Given the description of an element on the screen output the (x, y) to click on. 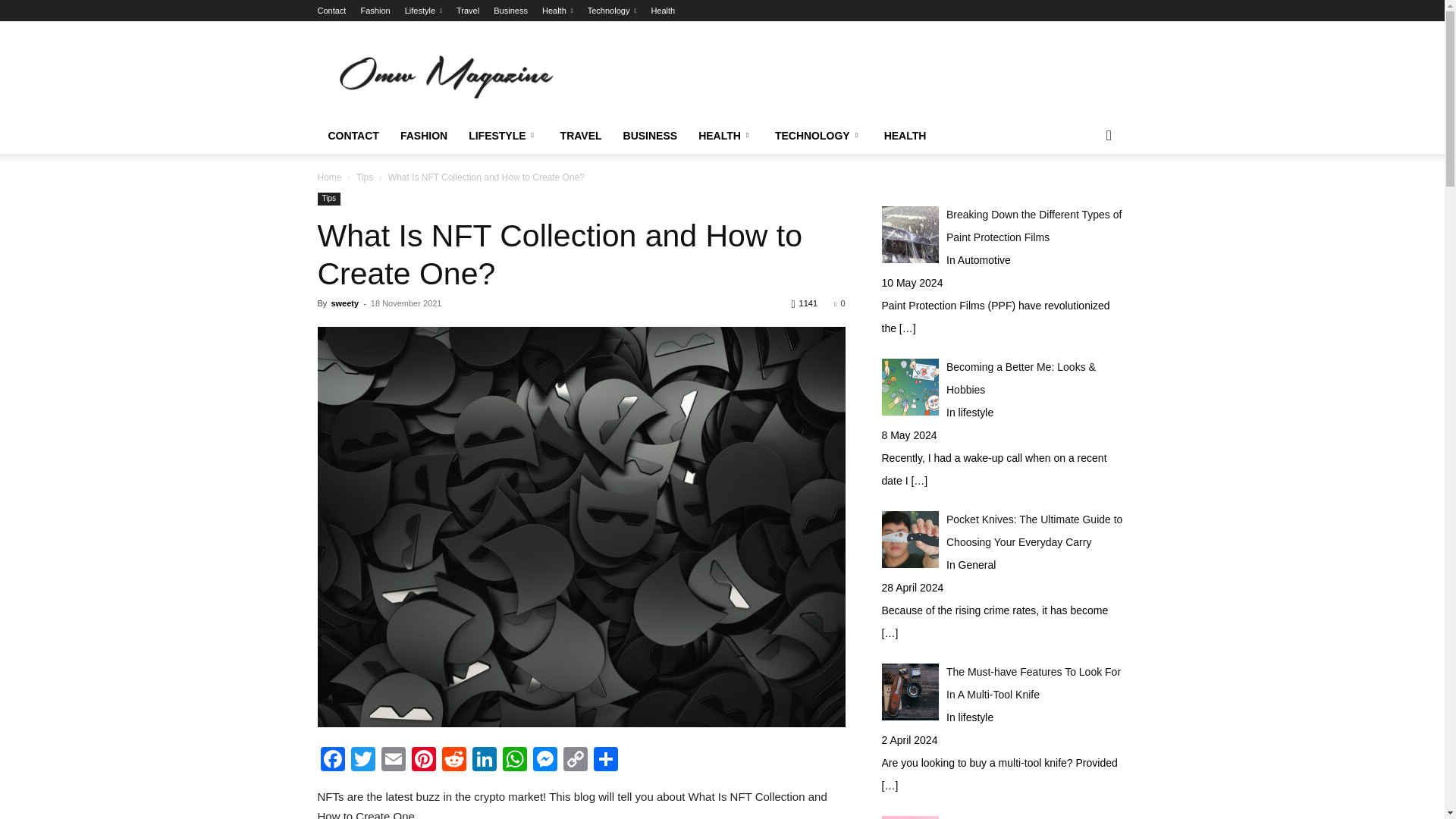
Copy Link (574, 760)
HEALTH (725, 135)
LIFESTYLE (503, 135)
BUSINESS (650, 135)
Travel (468, 10)
WhatsApp (514, 760)
FASHION (424, 135)
Contact (331, 10)
HEALTH (905, 135)
Health (662, 10)
Email (392, 760)
TRAVEL (581, 135)
View all posts in Tips (364, 176)
Messenger (544, 760)
Reddit (453, 760)
